Given the description of an element on the screen output the (x, y) to click on. 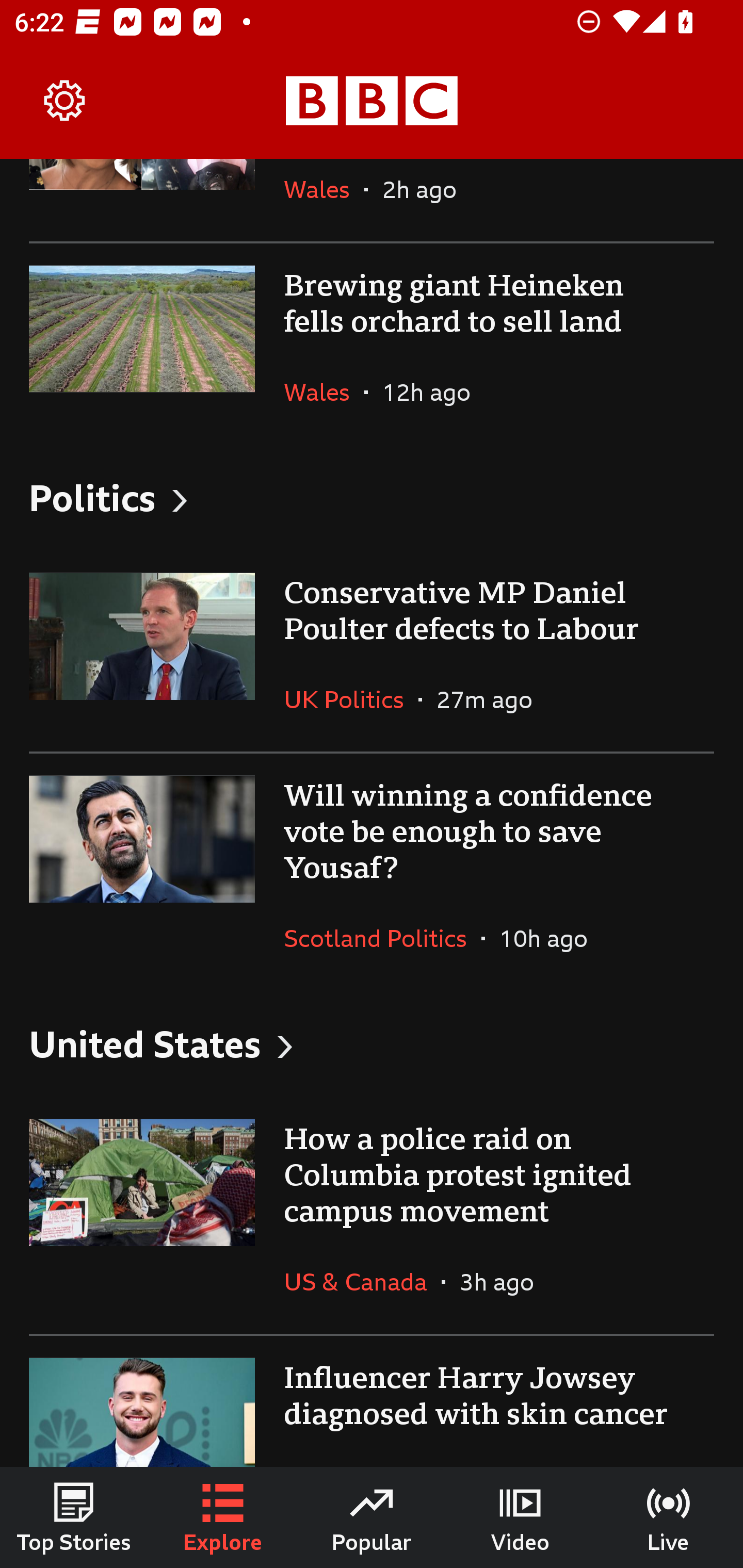
Settings (64, 100)
Wales In the section Wales (323, 199)
Wales In the section Wales (323, 391)
Politics, Heading Politics    (371, 496)
UK Politics In the section UK Politics (350, 699)
Scotland Politics In the section Scotland Politics (382, 937)
United States, Heading United States    (371, 1043)
US & Canada In the section US & Canada (362, 1281)
Top Stories (74, 1517)
Popular (371, 1517)
Video (519, 1517)
Live (668, 1517)
